Given the description of an element on the screen output the (x, y) to click on. 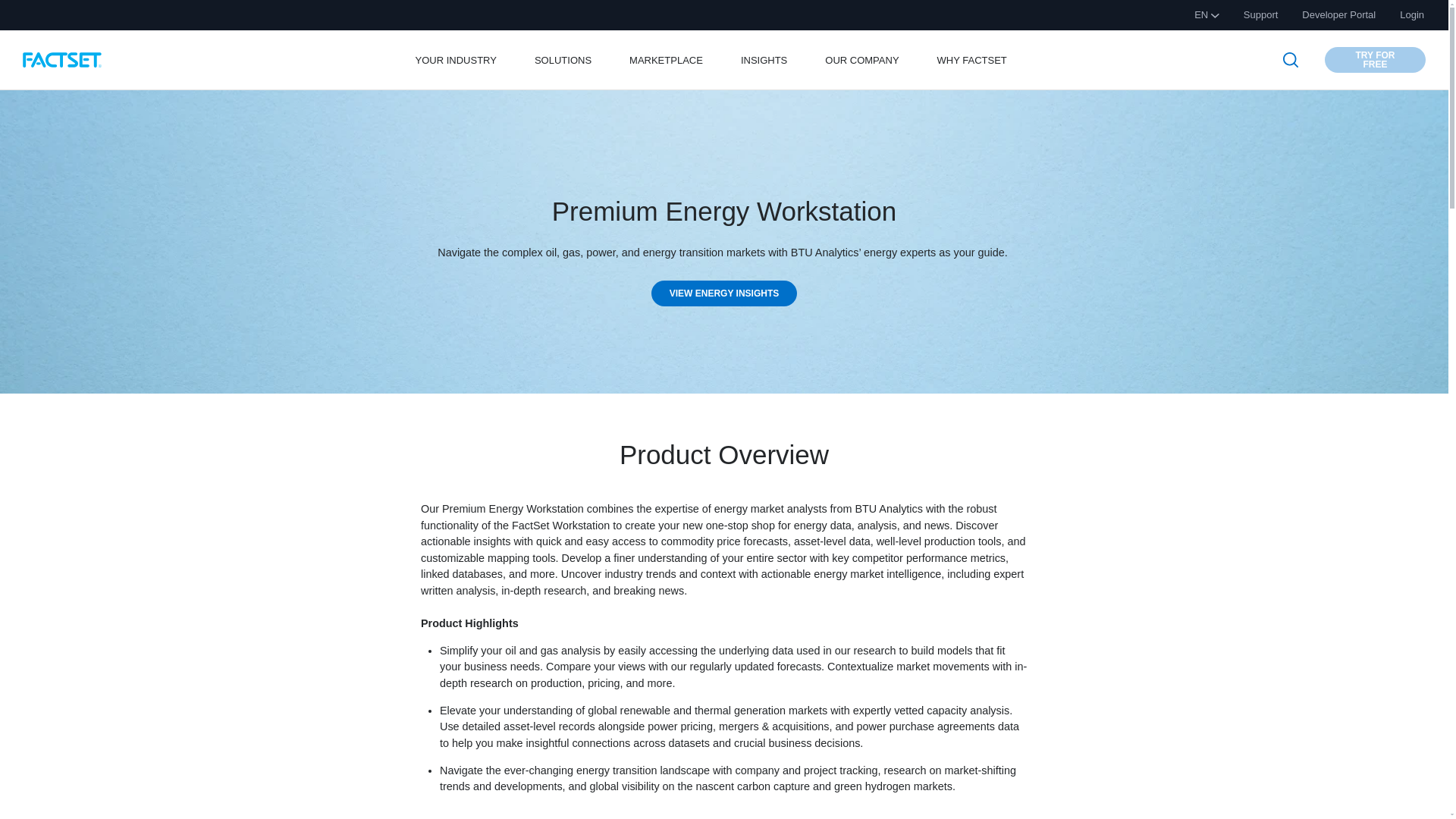
Support (1260, 15)
INSIGHTS (763, 59)
MARKETPLACE (665, 59)
VIEW ENERGY INSIGHTS (723, 293)
YOUR INDUSTRY (456, 59)
FactSet (80, 59)
SOLUTIONS (562, 59)
EN (1206, 15)
Login (1411, 15)
WHY FACTSET (972, 59)
FactSet Logo (62, 59)
Developer Portal (1338, 15)
OUR COMPANY (861, 59)
TRY FOR FREE (1374, 59)
